Given the description of an element on the screen output the (x, y) to click on. 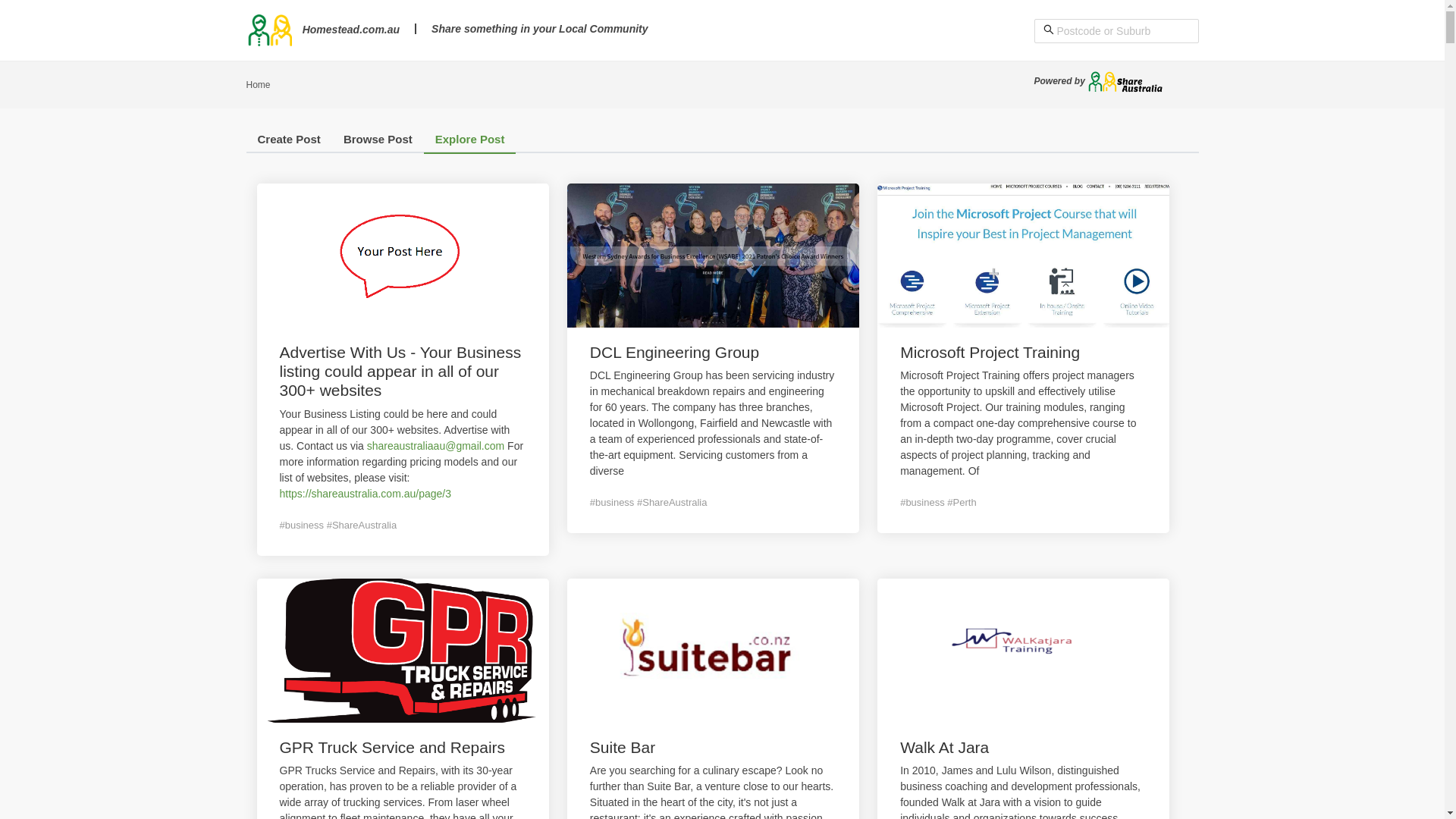
Microsoft Project Training Element type: text (989, 351)
Explore Post Element type: text (469, 142)
Powered by Element type: text (1099, 80)
Suite Bar Element type: text (622, 747)
Create Post Element type: text (288, 142)
https://shareaustralia.com.au/page/3 Element type: text (364, 493)
GPR Truck Service and Repairs Element type: text (392, 747)
DCL Engineering Group Element type: text (674, 351)
Homestead.com.au Element type: text (322, 29)
shareaustraliaau@gmail.com Element type: text (437, 445)
Walk At Jara Element type: text (944, 747)
Browse Post Element type: text (377, 142)
